Given the description of an element on the screen output the (x, y) to click on. 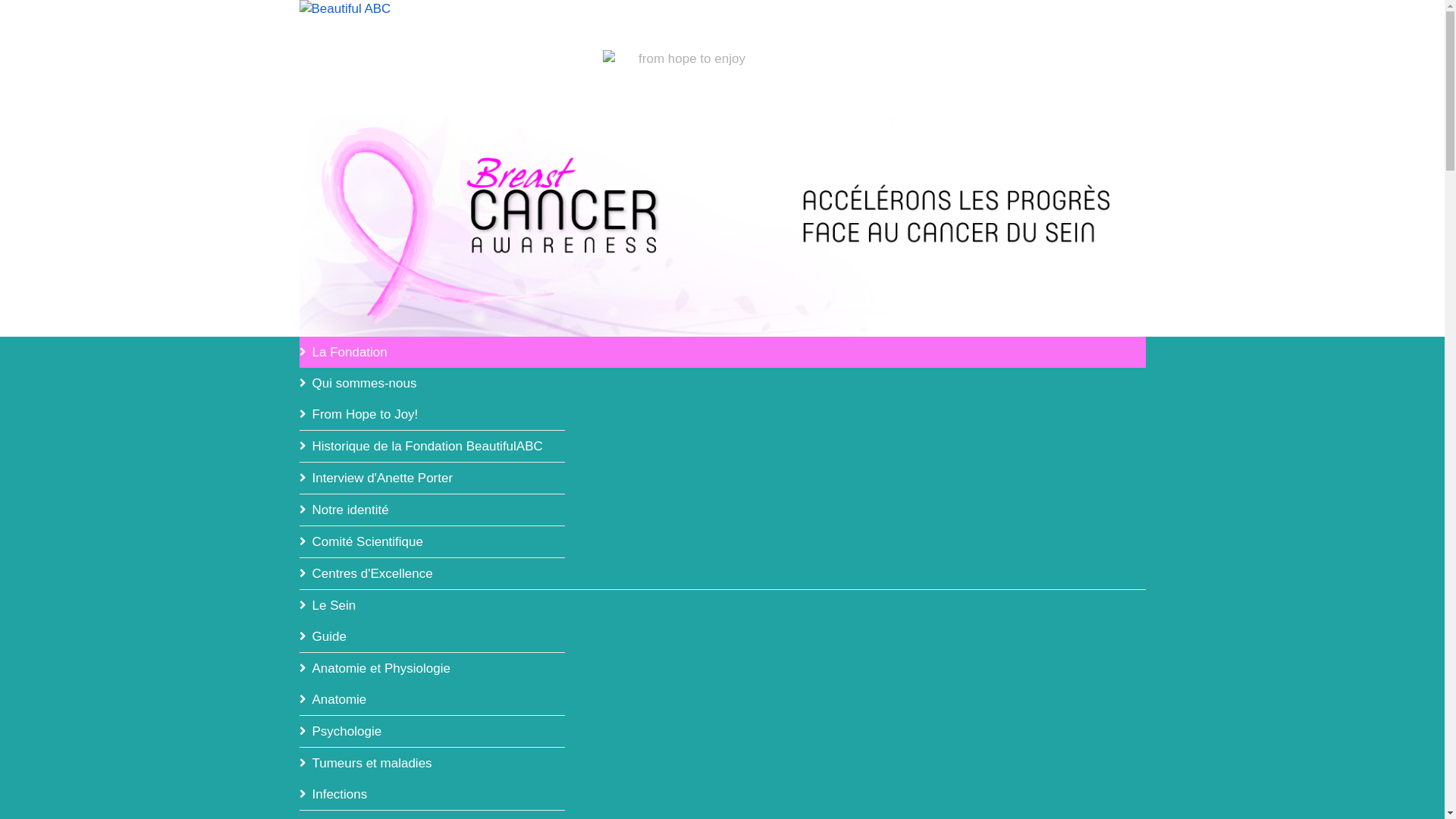
Interview d'Anette Porter Element type: text (431, 477)
Psychologie Element type: text (431, 730)
Anatomie Element type: text (431, 699)
From Hope to Joy! Element type: text (431, 413)
La Fondation Element type: text (721, 351)
Tumeurs et maladies Element type: text (431, 762)
Le Sein Element type: text (721, 605)
Infections Element type: text (431, 793)
Guide Element type: text (431, 636)
Anatomie et Physiologie Element type: text (431, 668)
Centres d'Excellence Element type: text (431, 573)
Historique de la Fondation BeautifulABC Element type: text (431, 445)
Qui sommes-nous Element type: text (431, 382)
